Given the description of an element on the screen output the (x, y) to click on. 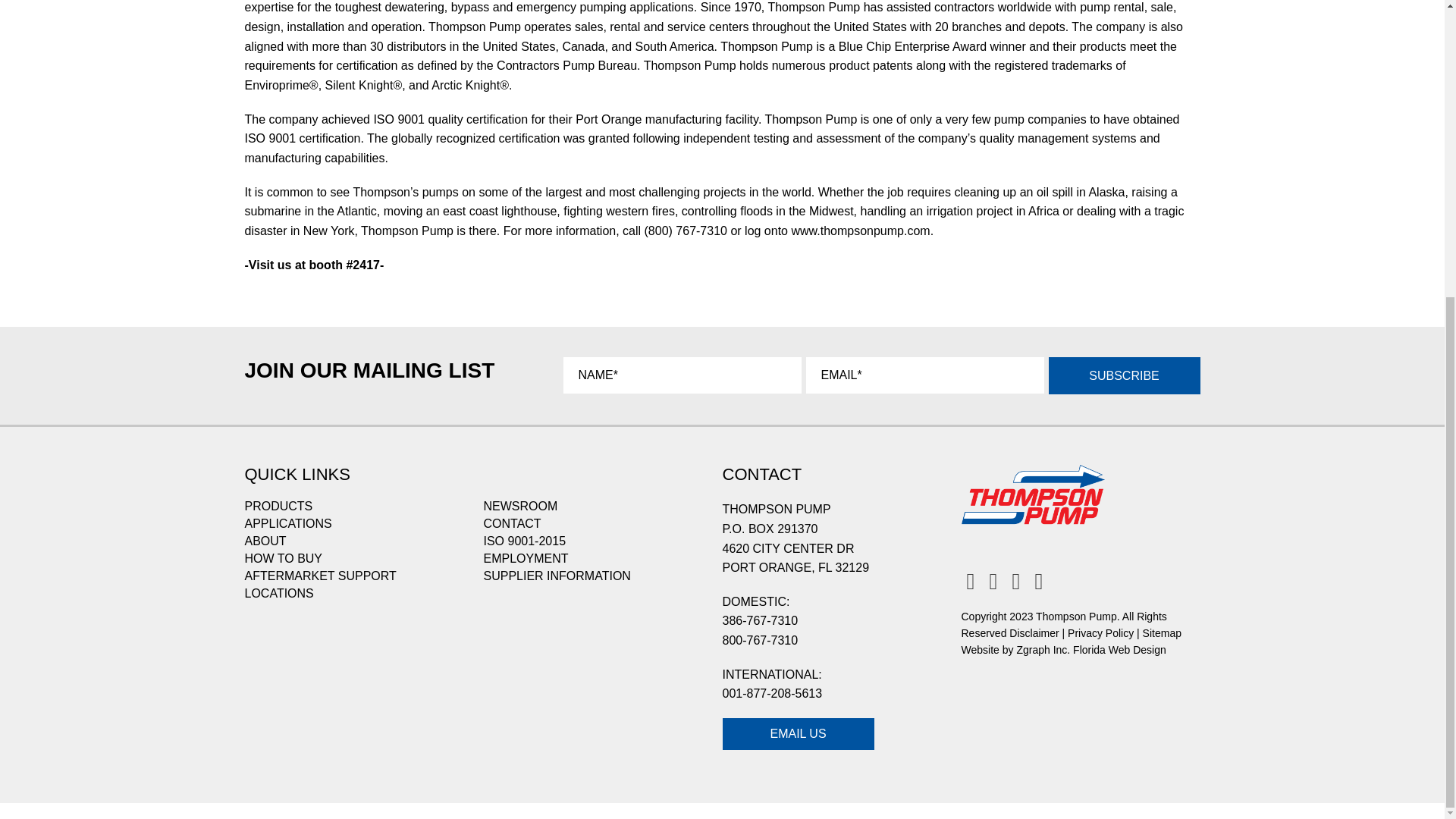
APPLICATIONS (287, 523)
SUPPLIER INFORMATION (556, 576)
ISO 9001-2015 (524, 540)
SUBSCRIBE (1123, 375)
NEWSROOM (520, 506)
LOCATIONS (278, 593)
SUBSCRIBE (1123, 375)
ABOUT (264, 540)
HOW TO BUY (282, 558)
AFTERMARKET SUPPORT (320, 576)
CONTACT (512, 523)
PRODUCTS (278, 506)
EMPLOYMENT (526, 558)
